Given the description of an element on the screen output the (x, y) to click on. 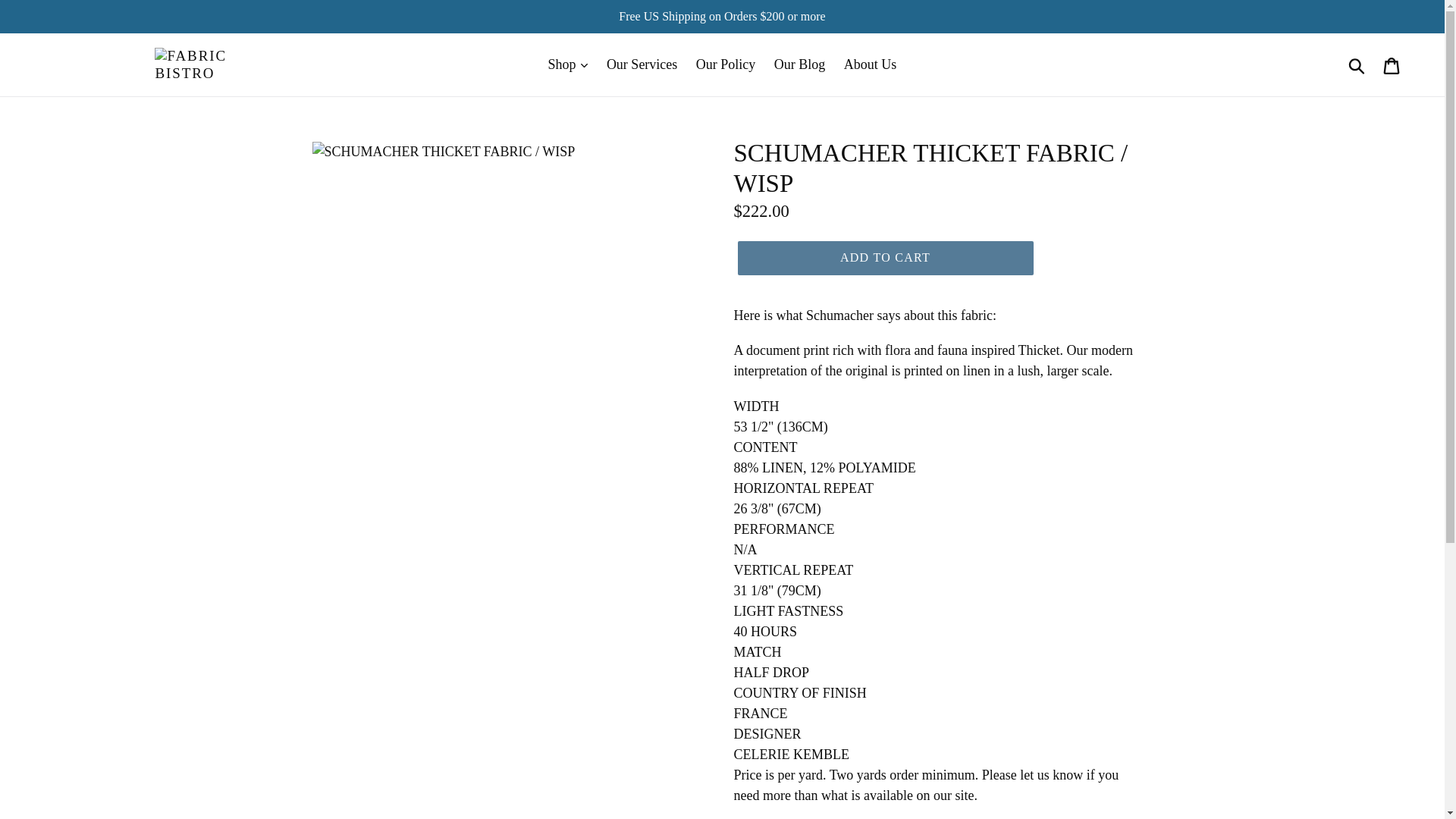
Our Blog (799, 64)
Submit (1357, 64)
About Us (869, 64)
Our Policy (725, 64)
Cart (1392, 64)
Our Services (641, 64)
